Given the description of an element on the screen output the (x, y) to click on. 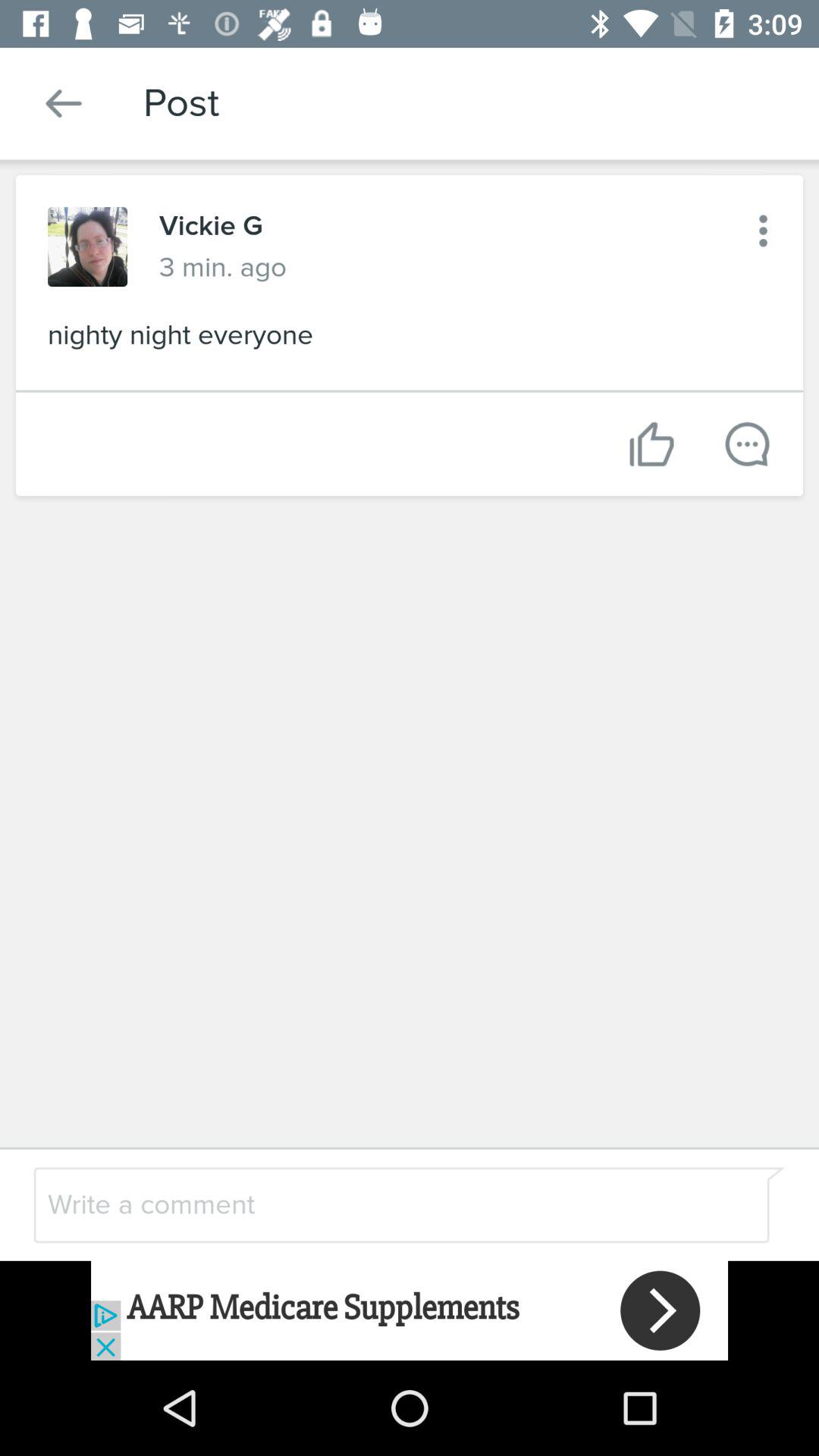
more options icon (763, 230)
